Given the description of an element on the screen output the (x, y) to click on. 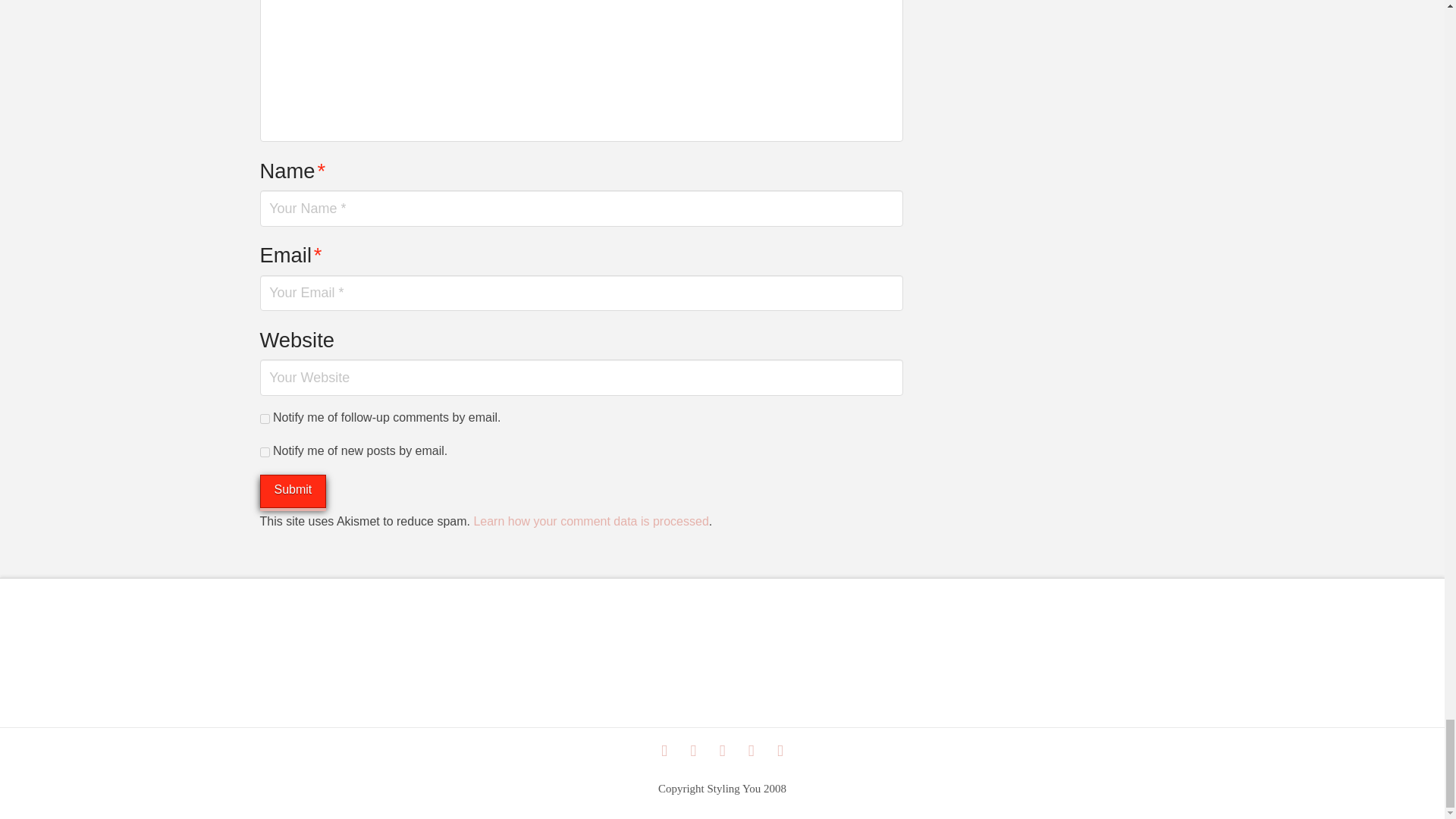
subscribe (264, 419)
subscribe (264, 452)
Submit (292, 491)
